Given the description of an element on the screen output the (x, y) to click on. 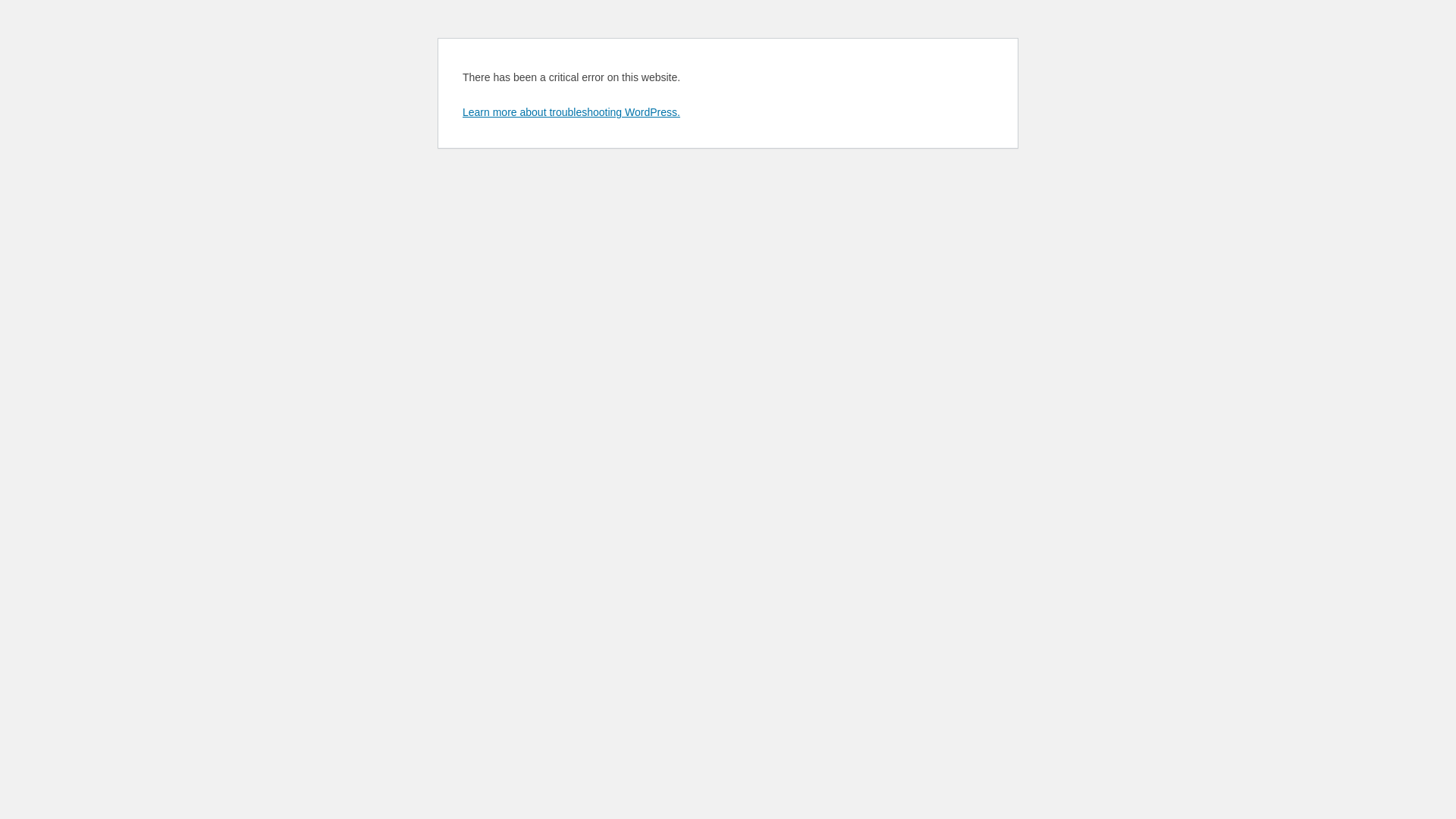
Learn more about troubleshooting WordPress. Element type: text (571, 112)
